Given the description of an element on the screen output the (x, y) to click on. 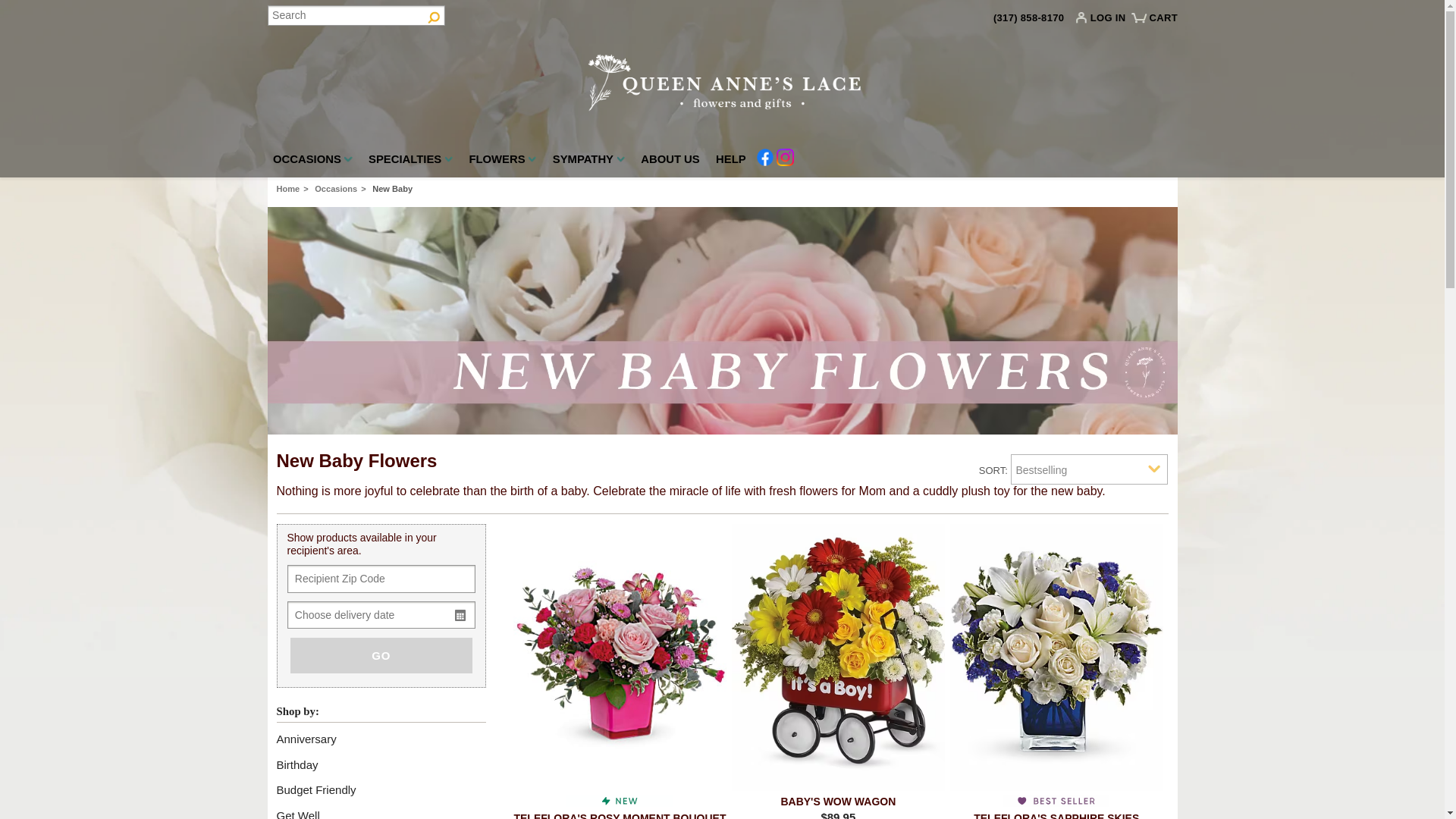
FLOWERS (502, 161)
log In (1104, 21)
GO (380, 655)
LOG IN (1104, 21)
Search (355, 14)
SPECIALTIES (410, 161)
SYMPATHY (588, 161)
Go (434, 15)
Sort By (1088, 469)
OCCASIONS (312, 161)
CART (1156, 23)
